Given the description of an element on the screen output the (x, y) to click on. 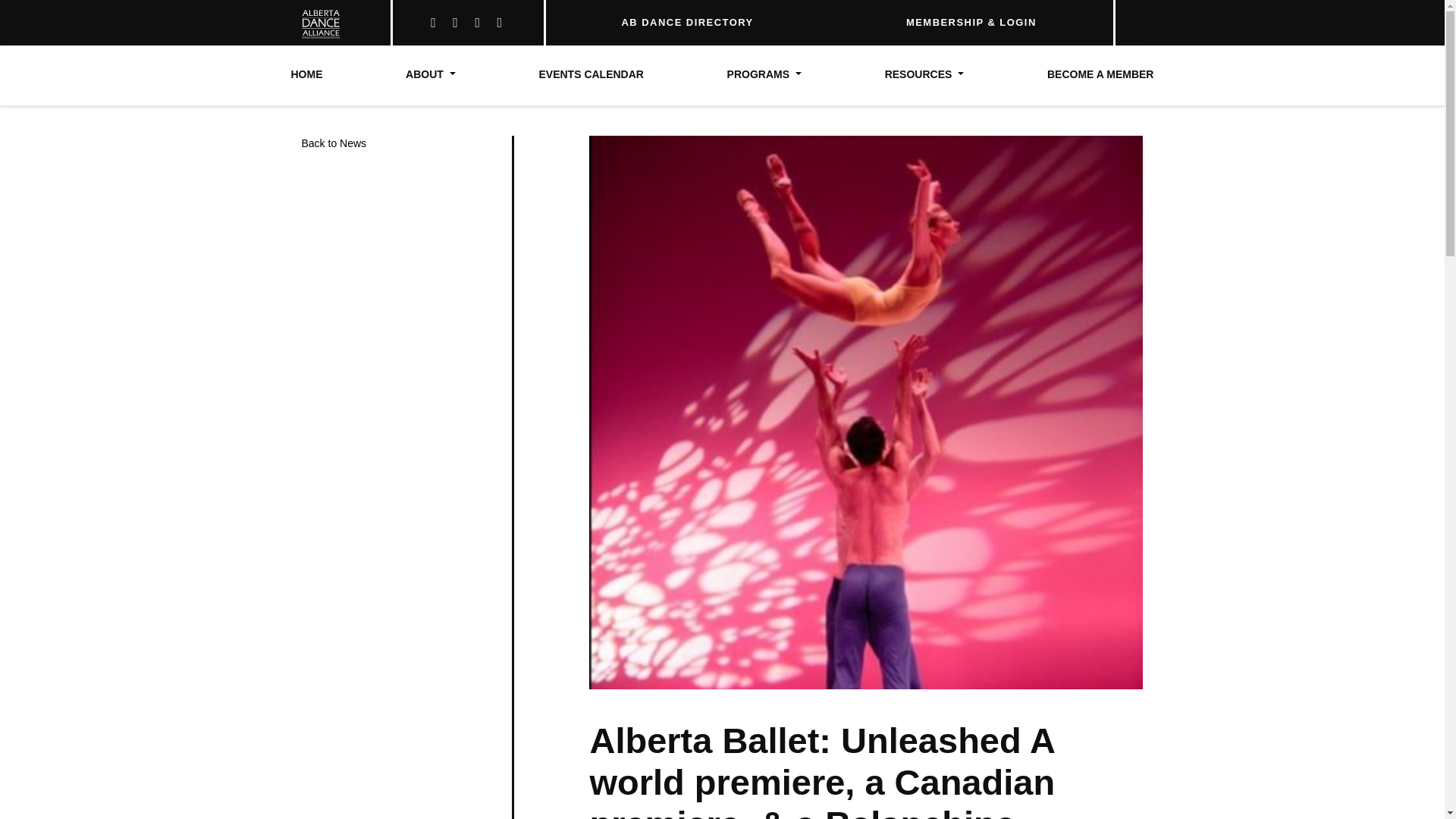
RESOURCES (924, 75)
ABOUT (430, 75)
BECOME A MEMBER (1100, 75)
Search (1098, 17)
About (430, 75)
Events Calendar (590, 75)
Search (1098, 17)
Programs (764, 75)
EVENTS CALENDAR (590, 75)
Alberta Dance Alliance (315, 22)
